Given the description of an element on the screen output the (x, y) to click on. 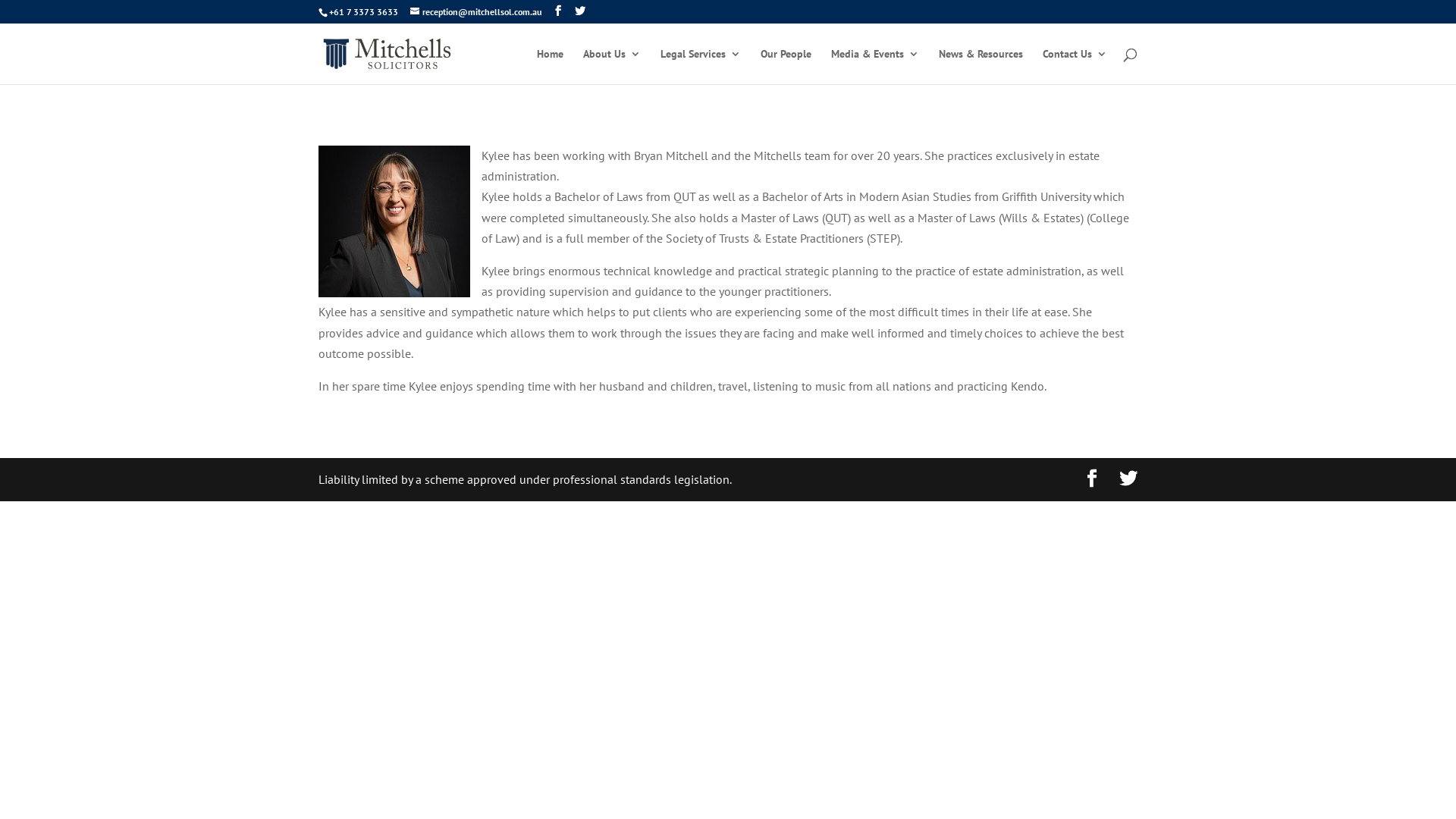
Our People Element type: text (785, 66)
reception@mitchellsol.com.au Element type: text (475, 11)
News & Resources Element type: text (980, 66)
Contact Us Element type: text (1074, 66)
Media & Events Element type: text (875, 66)
About Us Element type: text (611, 66)
Legal Services Element type: text (700, 66)
Home Element type: text (549, 66)
